Given the description of an element on the screen output the (x, y) to click on. 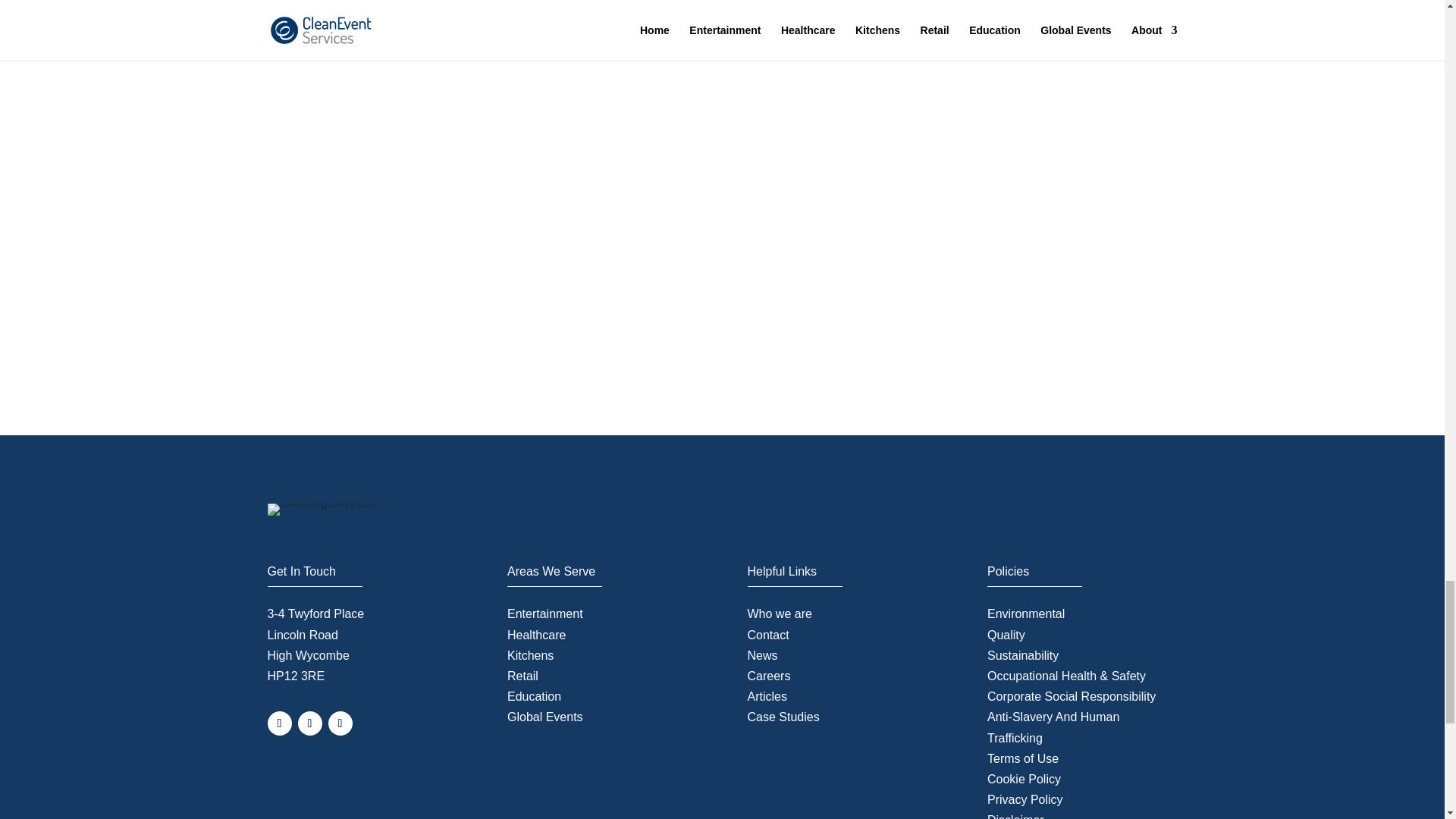
Quality (1006, 634)
Global Events (544, 716)
Healthcare (536, 634)
Corporate Social Responsibility (1071, 696)
Who we are (780, 613)
Articles (767, 696)
Environmental (1025, 613)
Sustainability (1022, 655)
News (762, 655)
Entertainment (544, 613)
Follow on Facebook (278, 723)
Kitchens (529, 655)
Contact (768, 634)
Retail (522, 675)
Careers (769, 675)
